Given the description of an element on the screen output the (x, y) to click on. 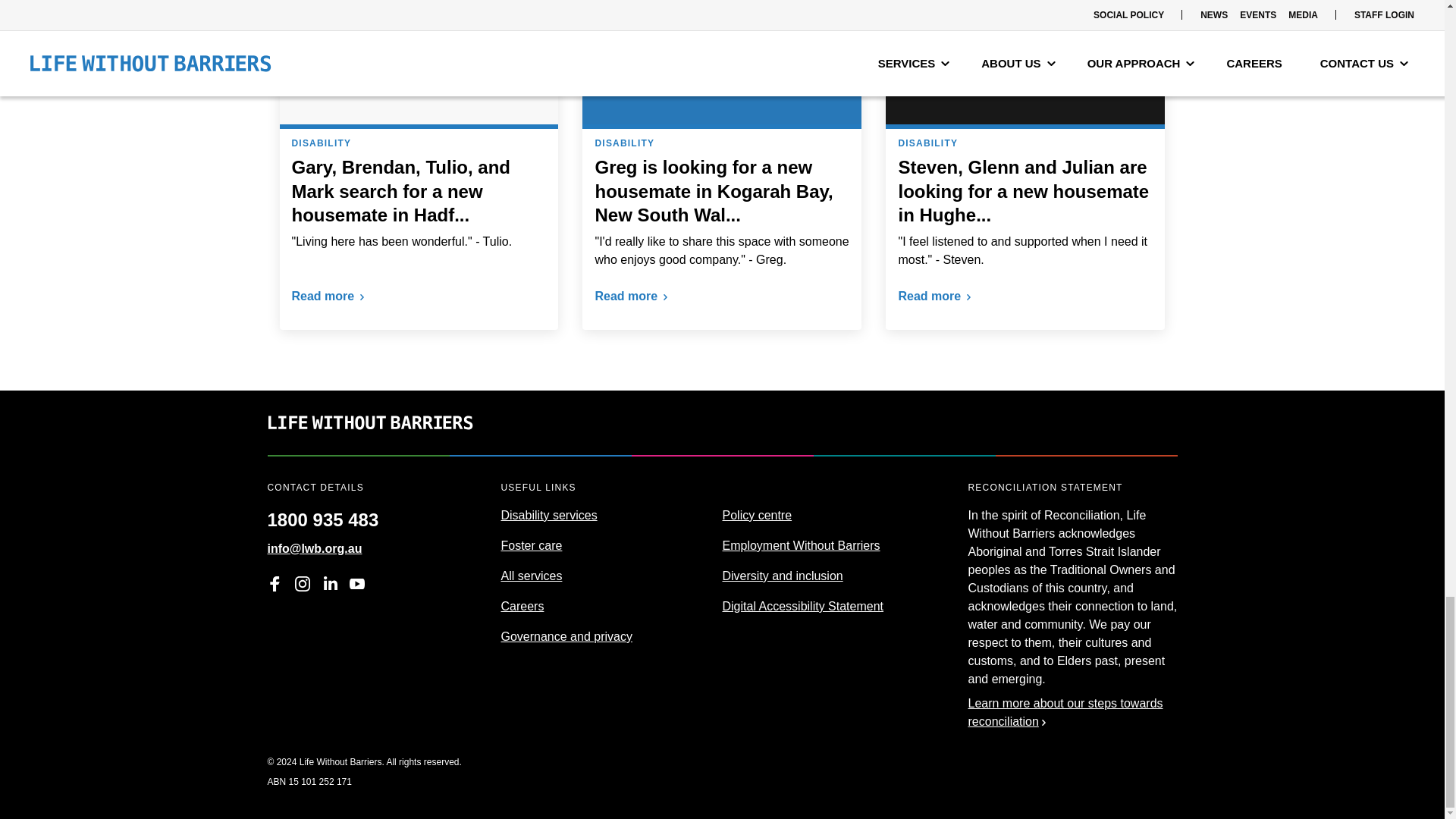
Disability services (548, 514)
Careers (521, 605)
All services (531, 575)
Foster care (531, 545)
Life Without Barriers home page (368, 445)
Governance and privacy (565, 635)
1800 935 483 (322, 513)
